Given the description of an element on the screen output the (x, y) to click on. 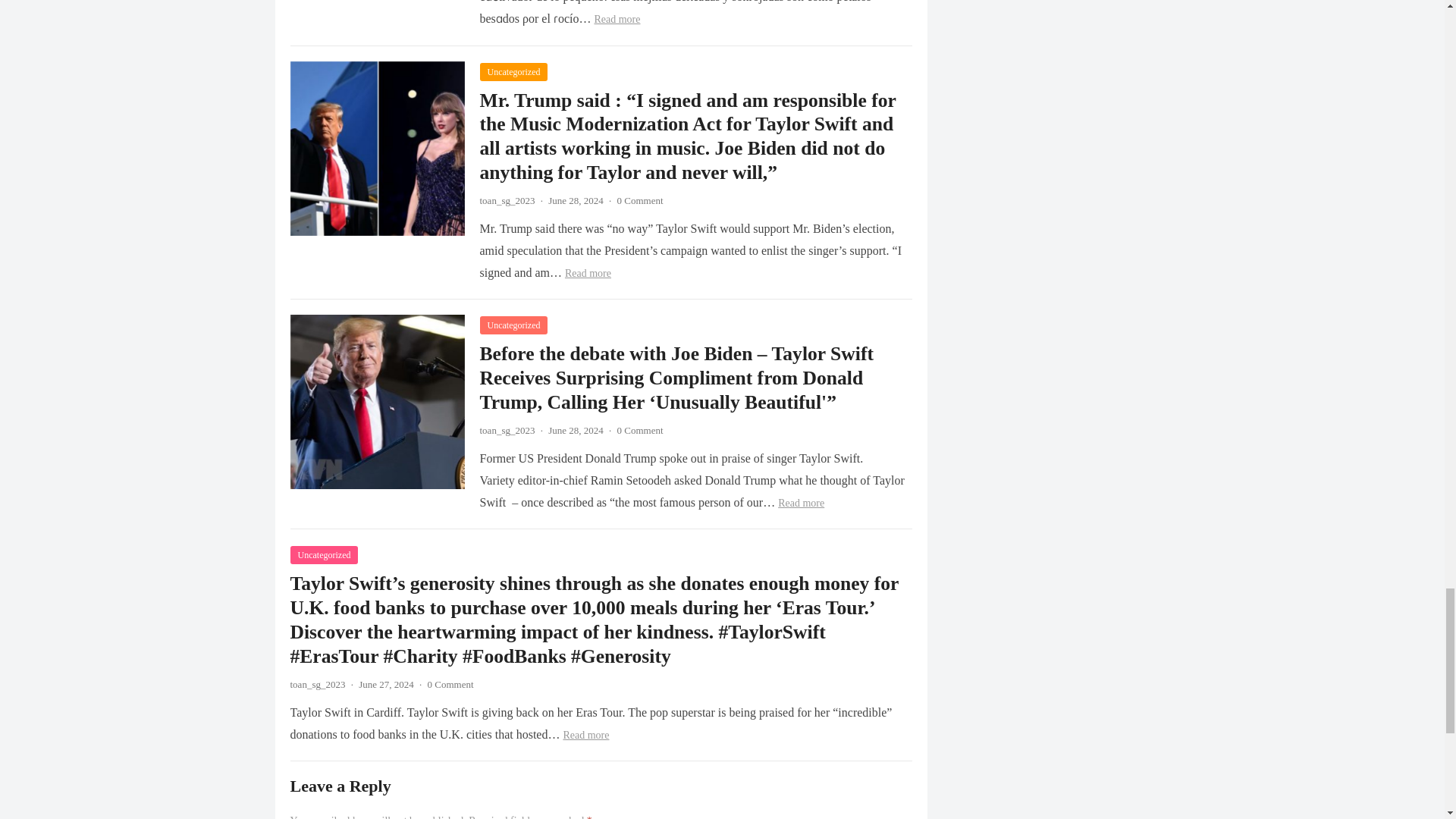
Uncategorized (513, 71)
0 Comment (640, 200)
Read more (617, 19)
